Given the description of an element on the screen output the (x, y) to click on. 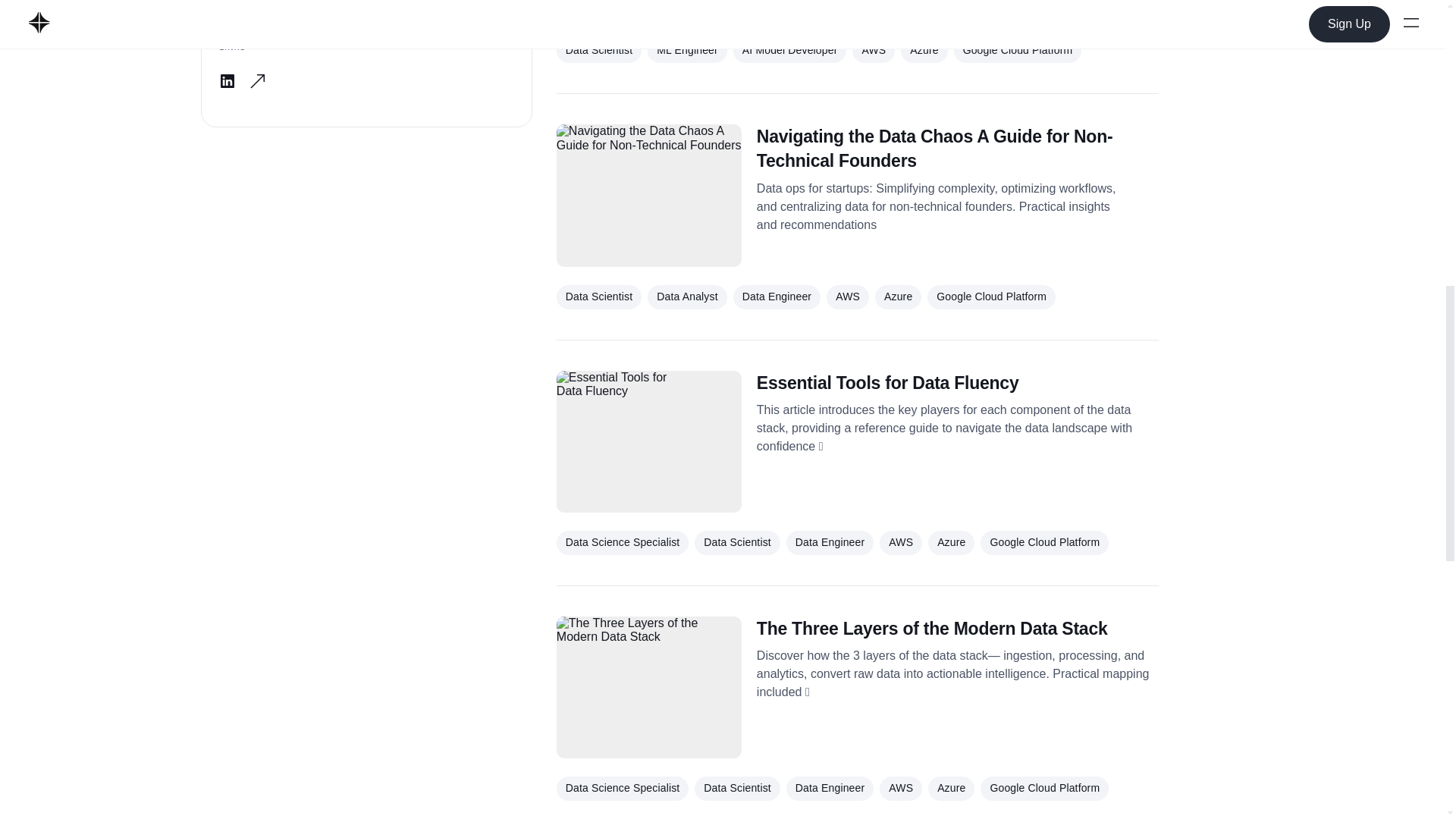
Navigating the Data Chaos A Guide for Non-Technical Founders (957, 148)
The Three Layers of the Modern Data Stack (957, 628)
Essential Tools for Data Fluency (957, 382)
